Given the description of an element on the screen output the (x, y) to click on. 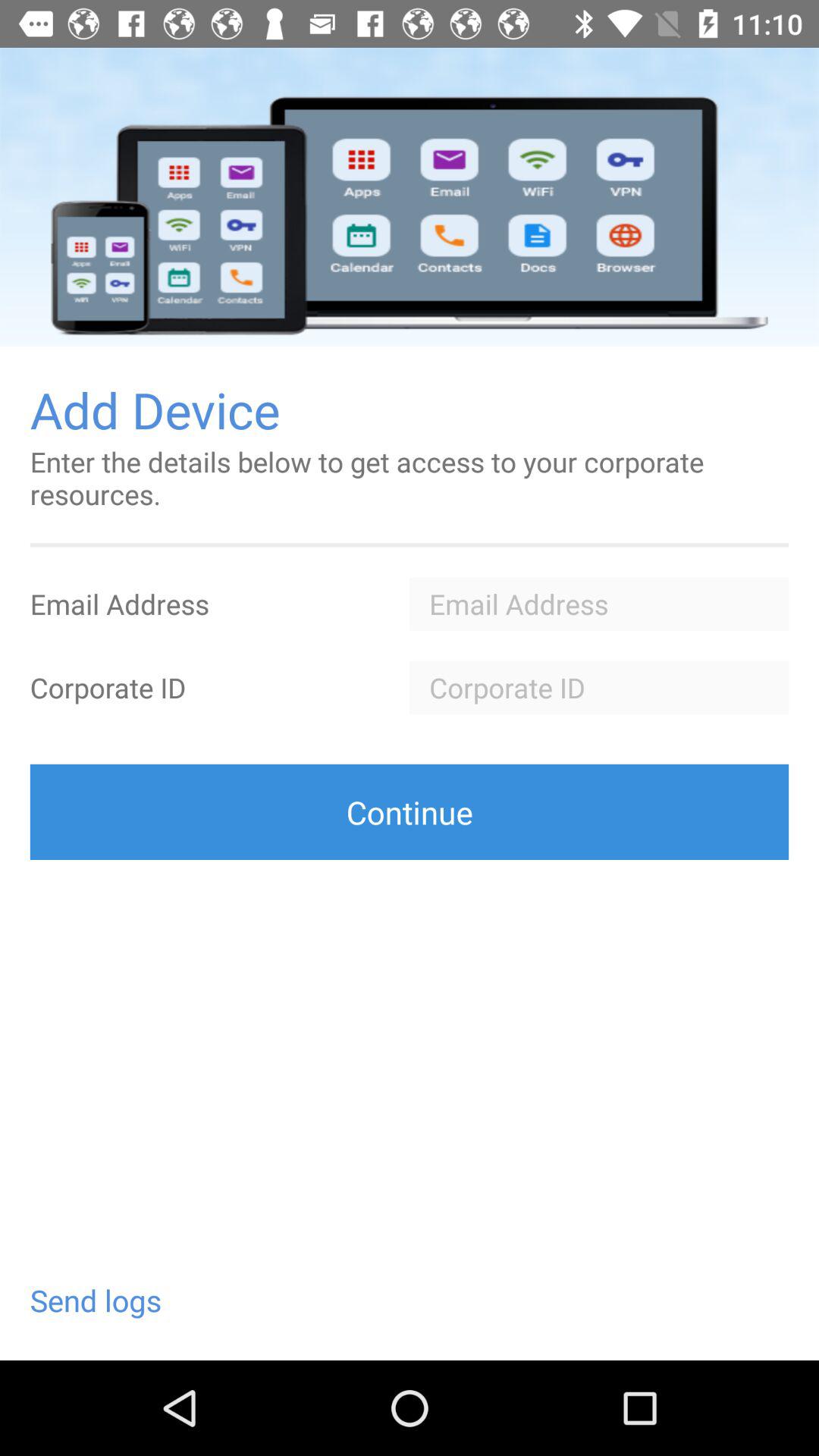
choose the item below add device (409, 478)
